Given the description of an element on the screen output the (x, y) to click on. 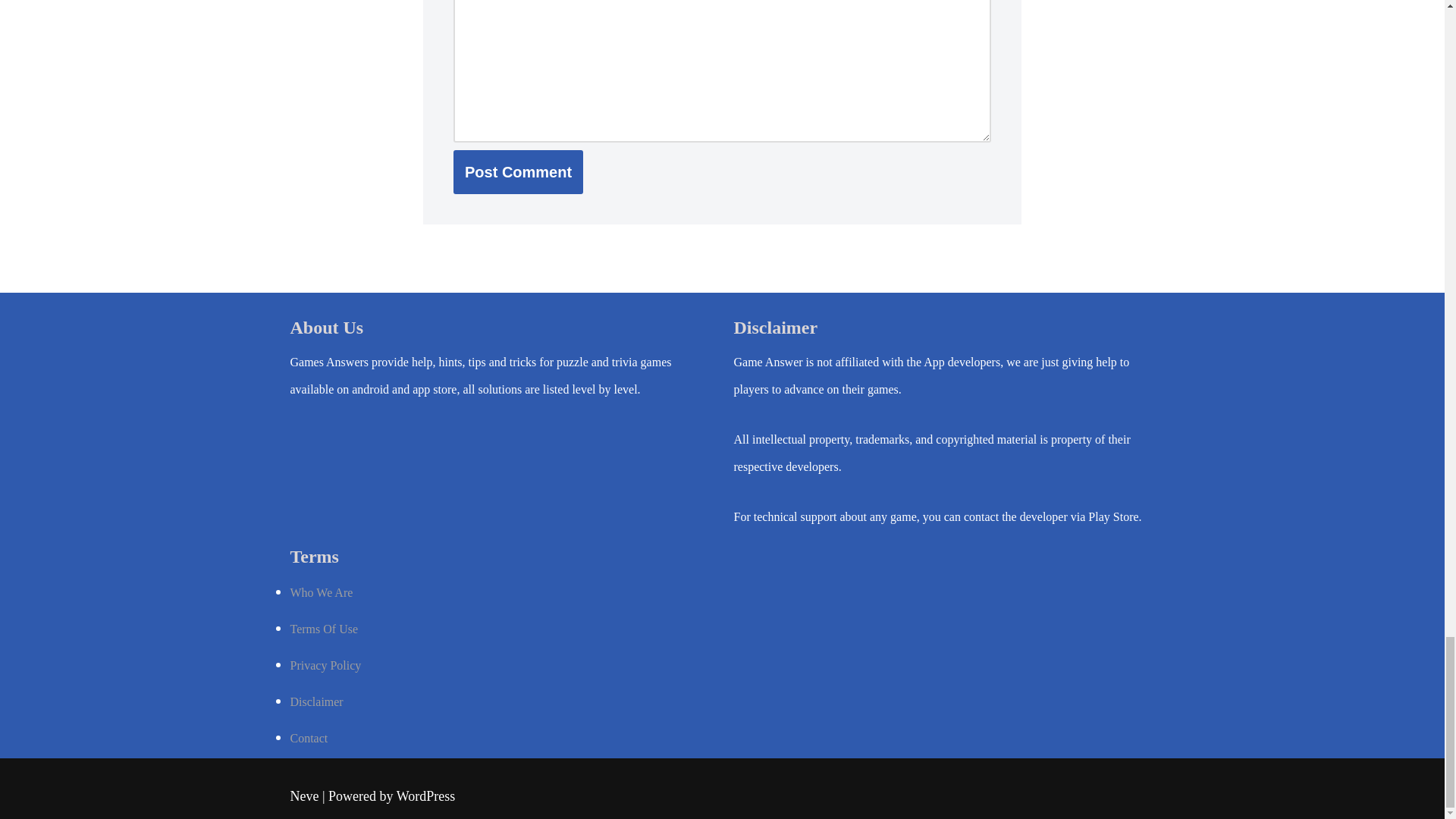
Contact (308, 738)
Who We Are (320, 592)
Privacy Policy (325, 665)
Disclaimer (315, 701)
WordPress (425, 795)
Neve (303, 795)
Post Comment (517, 171)
Post Comment (517, 171)
Terms Of Use (323, 628)
